Given the description of an element on the screen output the (x, y) to click on. 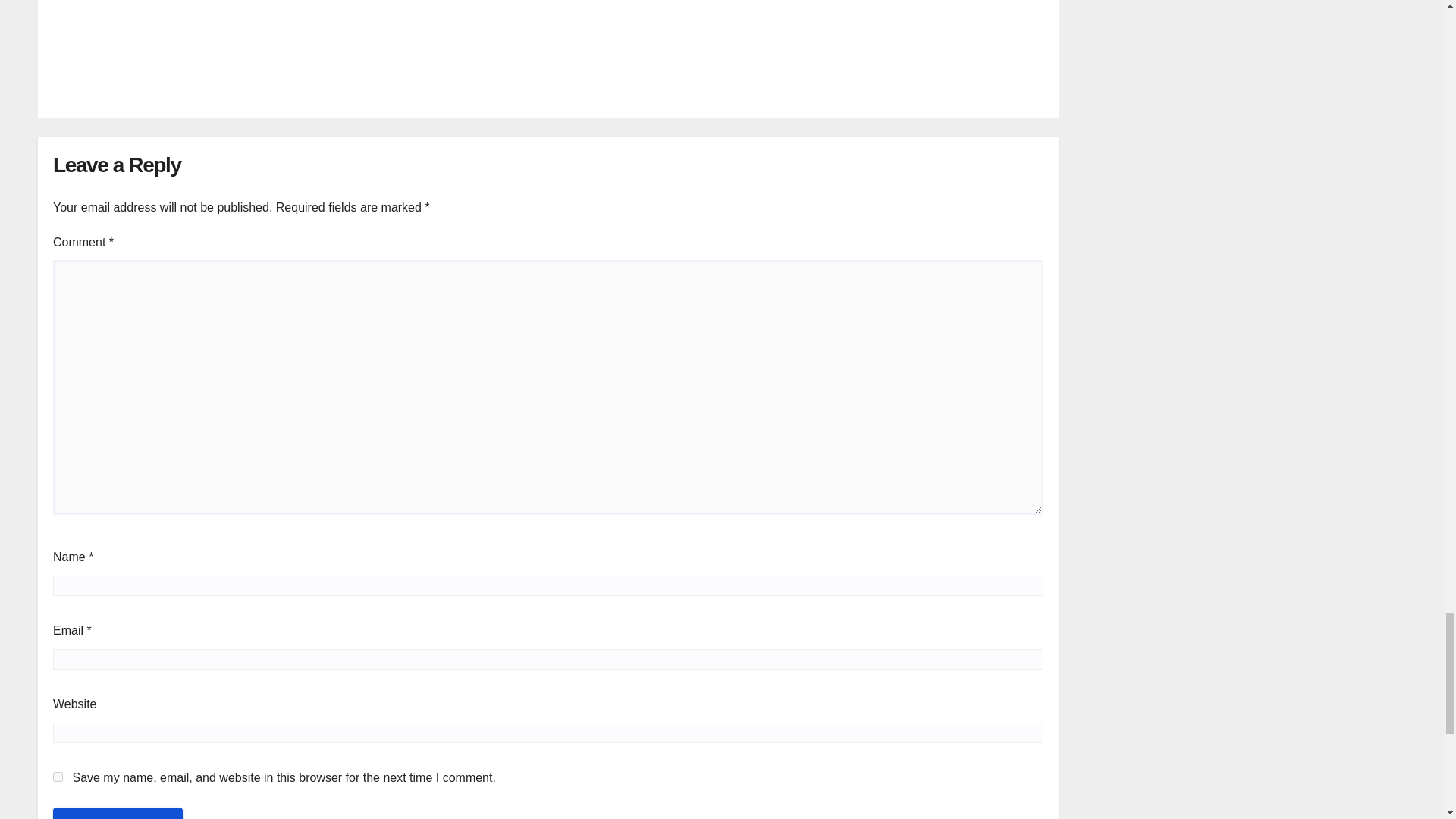
Post Comment (117, 813)
yes (57, 777)
